Given the description of an element on the screen output the (x, y) to click on. 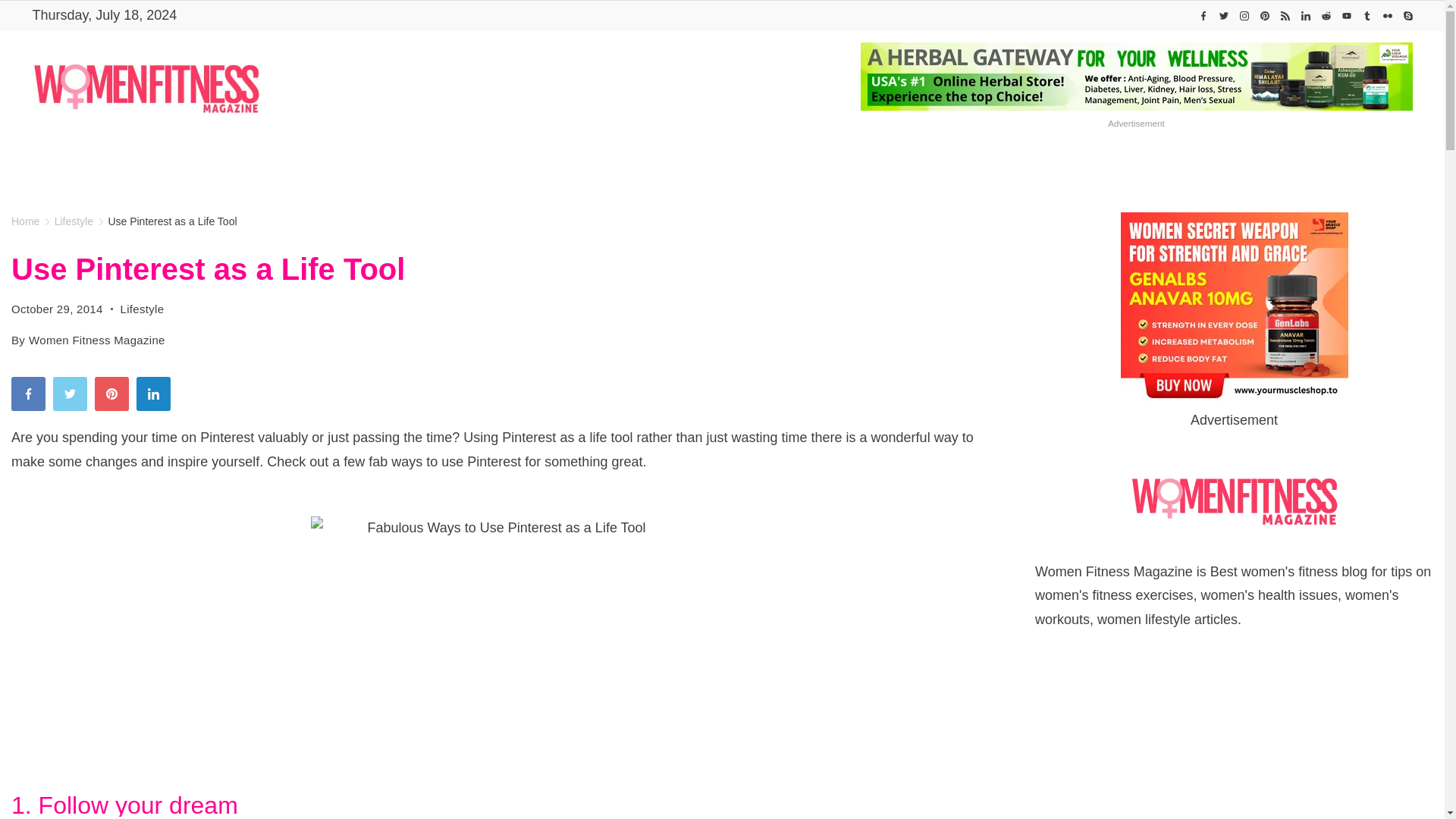
Home (415, 165)
Women Fitness Magazine  (415, 165)
